Given the description of an element on the screen output the (x, y) to click on. 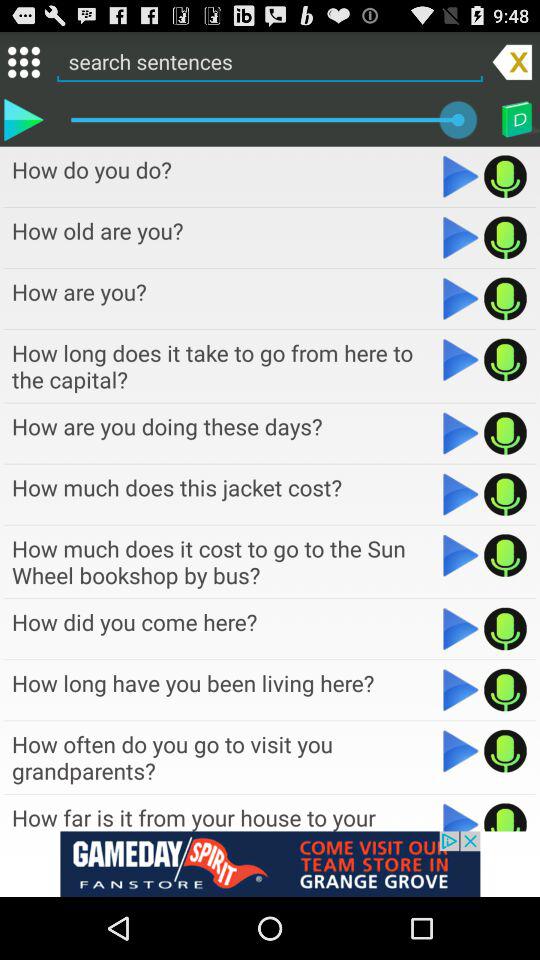
record audio (505, 628)
